Given the description of an element on the screen output the (x, y) to click on. 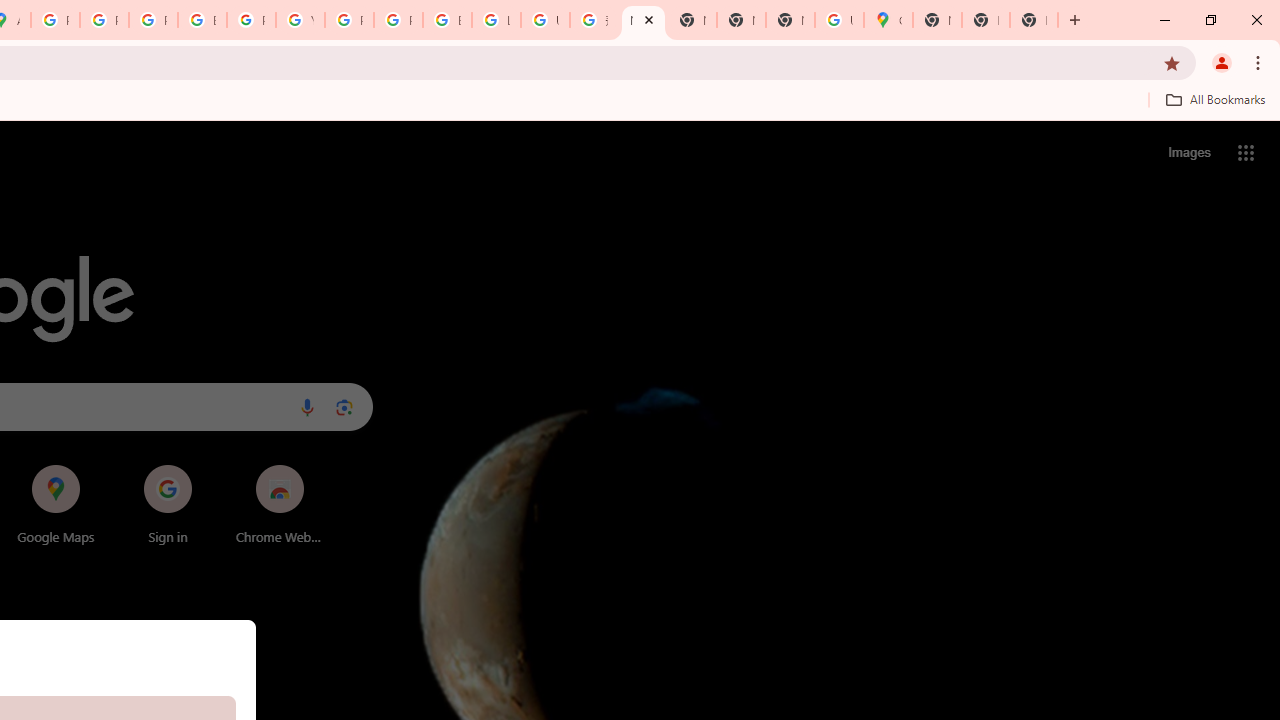
New Tab (1033, 20)
New Tab (985, 20)
YouTube (300, 20)
Policy Accountability and Transparency - Transparency Center (55, 20)
New Tab (937, 20)
